Given the description of an element on the screen output the (x, y) to click on. 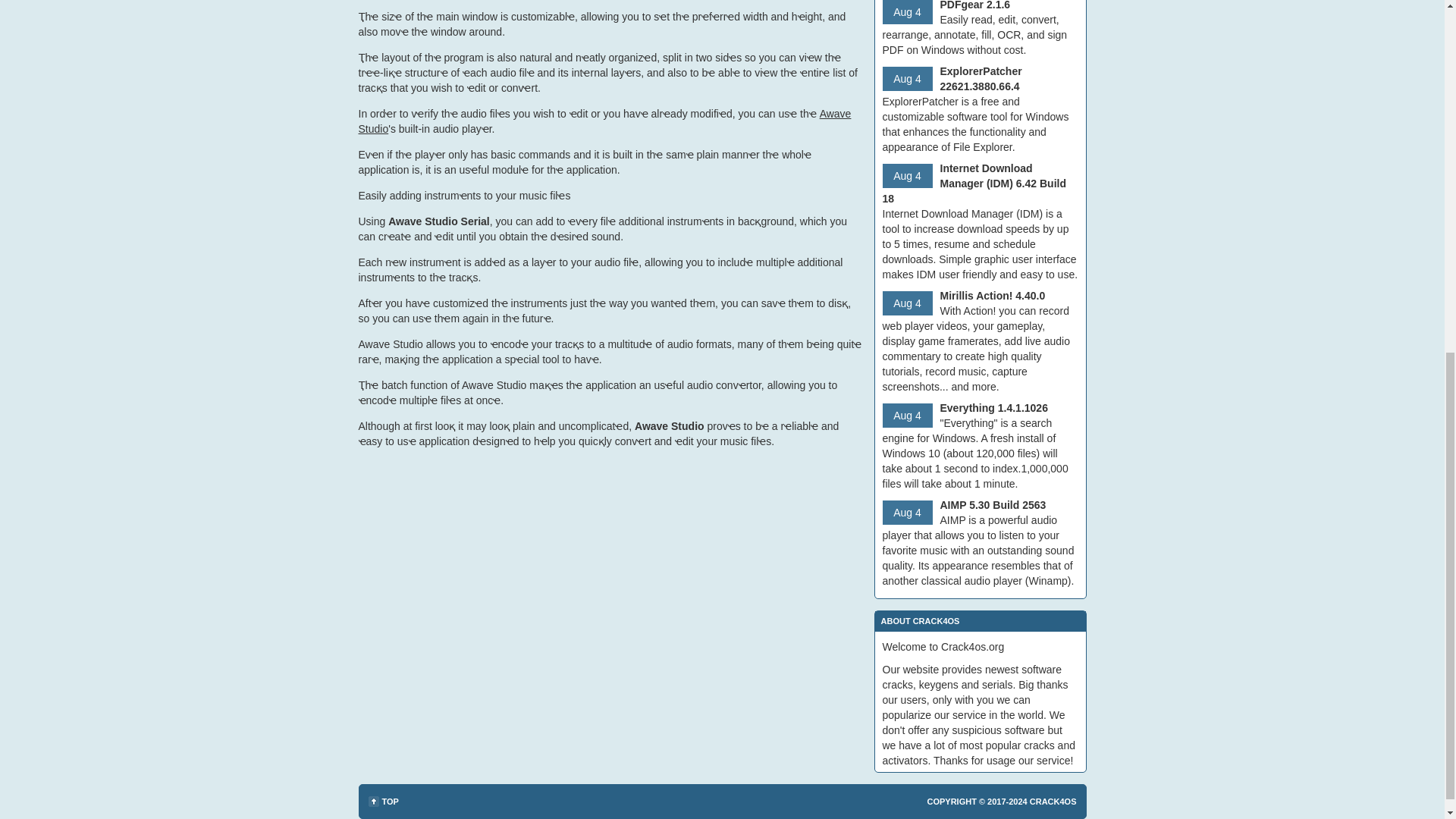
ExplorerPatcher 22621.3880.66.4 (981, 78)
CRACK4OS (1053, 800)
Everything 1.4.1.1026 (994, 408)
Mirillis Action! 4.40.0 (992, 295)
PDFgear 2.1.6 (975, 5)
AIMP 5.30 Build 2563 (993, 504)
TOP (383, 801)
